Given the description of an element on the screen output the (x, y) to click on. 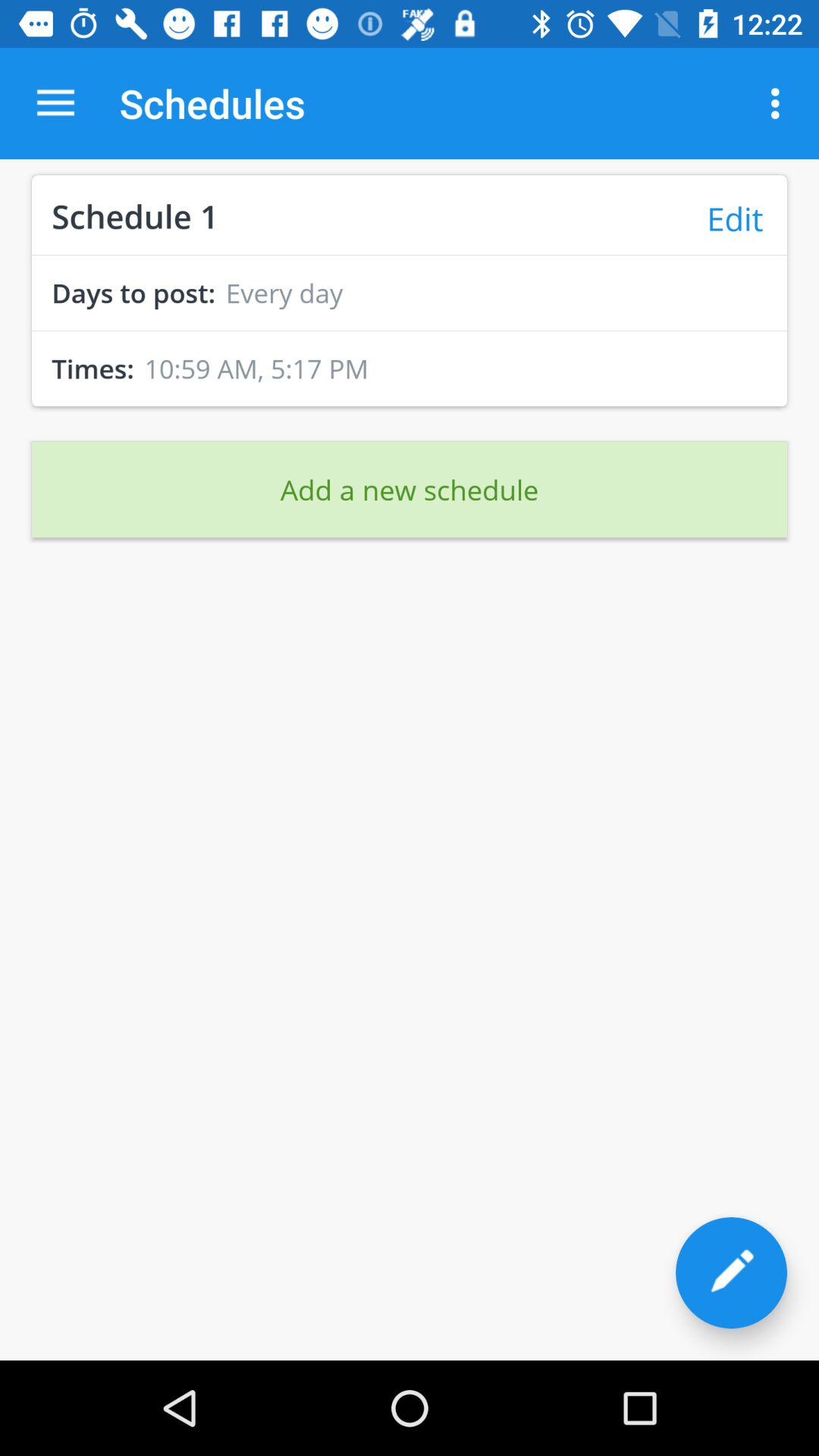
turn on the icon to the right of the schedules item (779, 103)
